Given the description of an element on the screen output the (x, y) to click on. 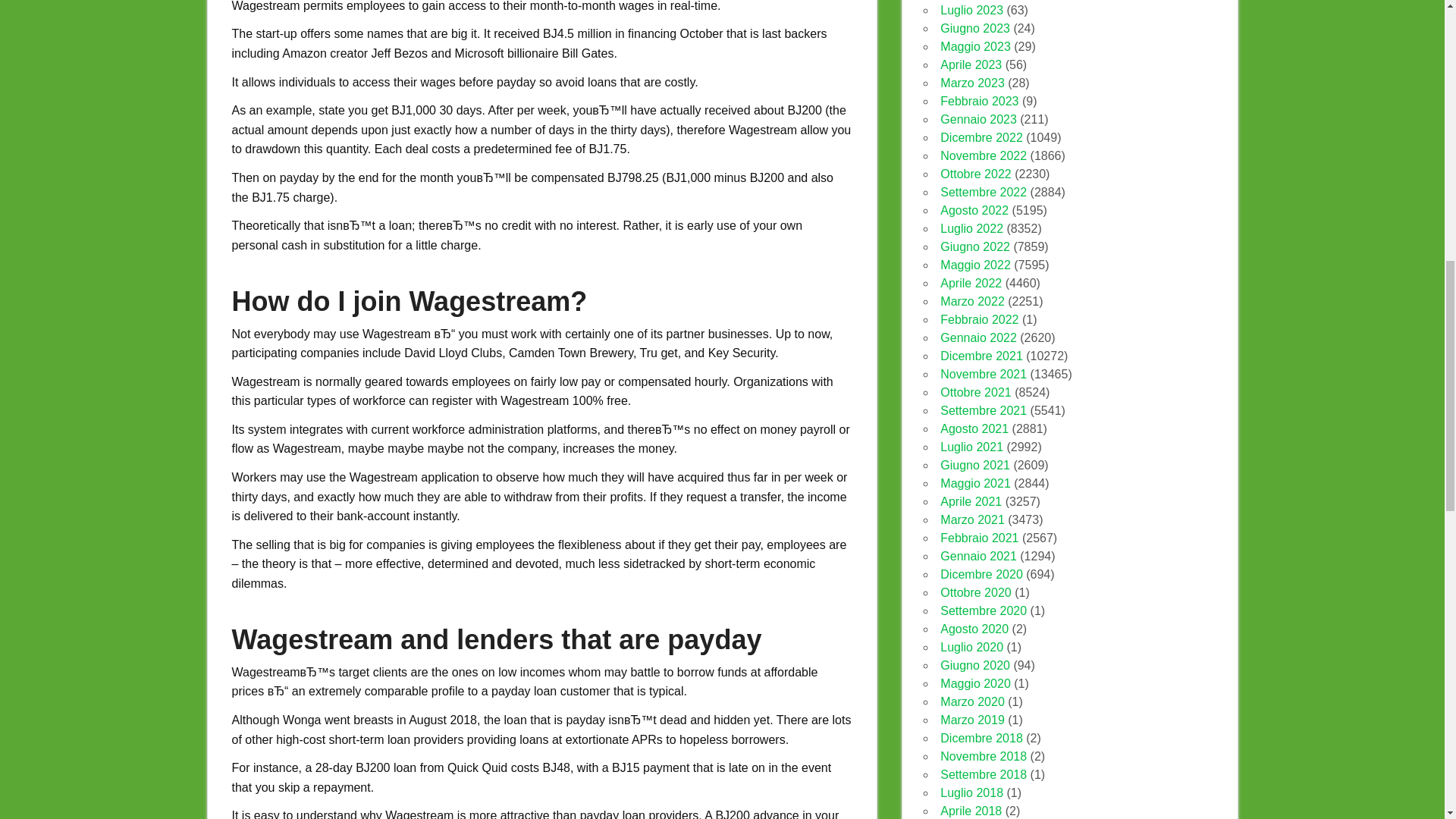
Novembre 2022 (983, 155)
Luglio 2023 (971, 10)
Maggio 2023 (975, 46)
Dicembre 2022 (981, 137)
Maggio 2022 (975, 264)
Ottobre 2022 (975, 173)
Marzo 2023 (972, 82)
Aprile 2022 (970, 282)
Giugno 2022 (975, 246)
Agosto 2022 (974, 210)
Giugno 2023 (975, 28)
Aprile 2023 (970, 64)
Luglio 2022 (971, 228)
Settembre 2022 (983, 192)
Gennaio 2023 (978, 119)
